Given the description of an element on the screen output the (x, y) to click on. 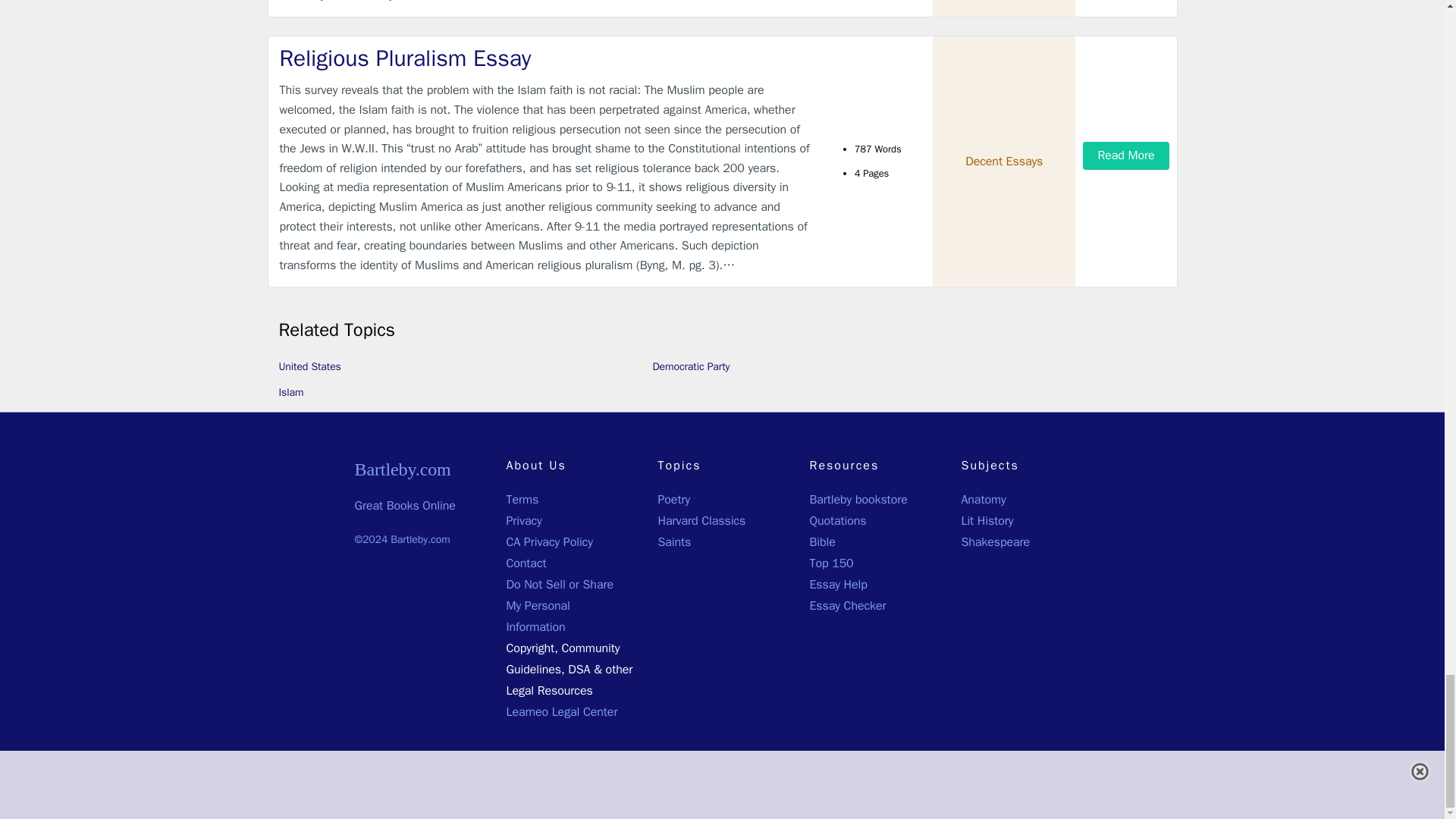
Democratic Party (690, 366)
United States (309, 366)
Islam (291, 391)
